Given the description of an element on the screen output the (x, y) to click on. 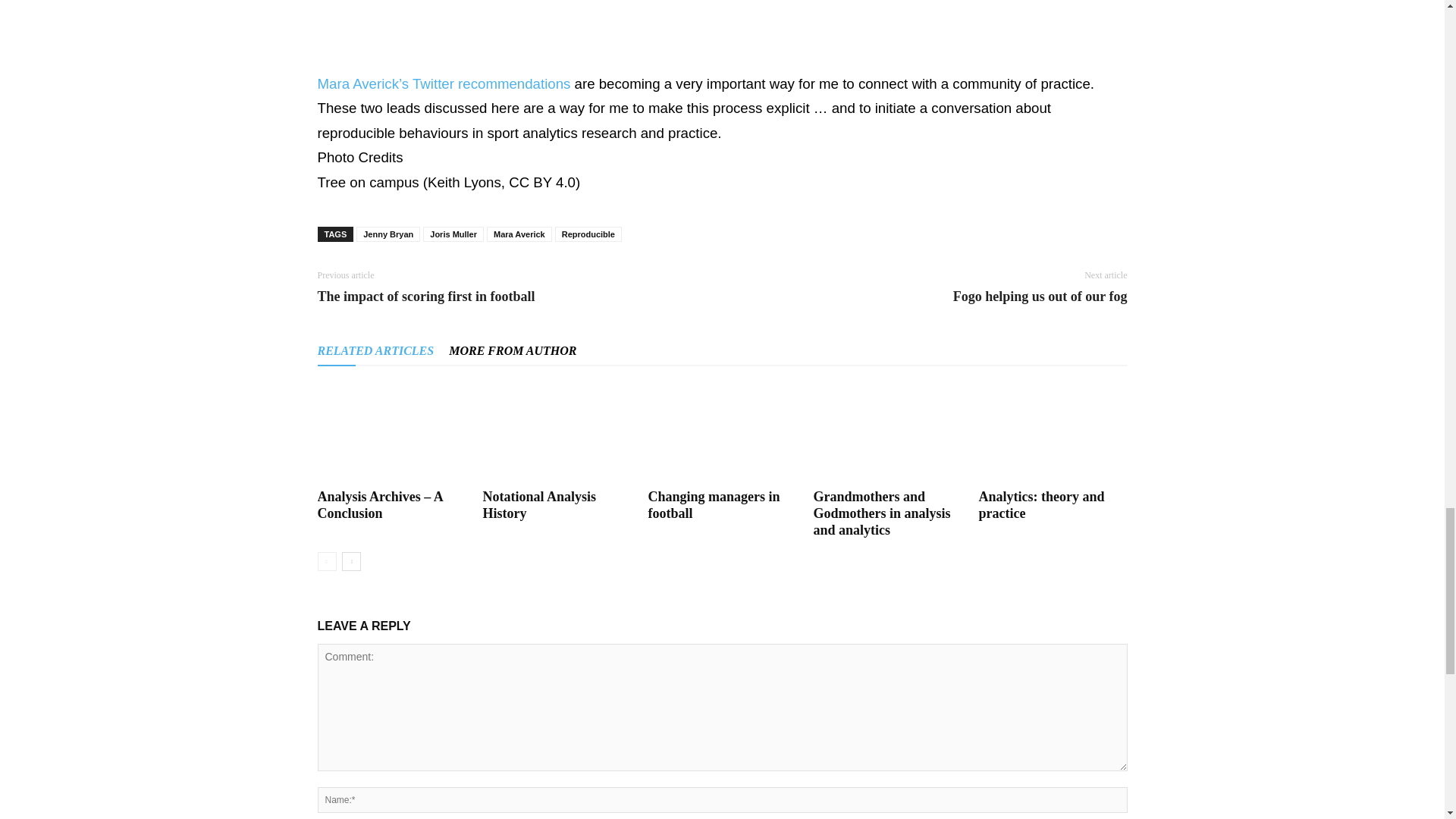
Changing managers in football (721, 432)
Notational Analysis History (538, 504)
Notational Analysis History (555, 432)
